Given the description of an element on the screen output the (x, y) to click on. 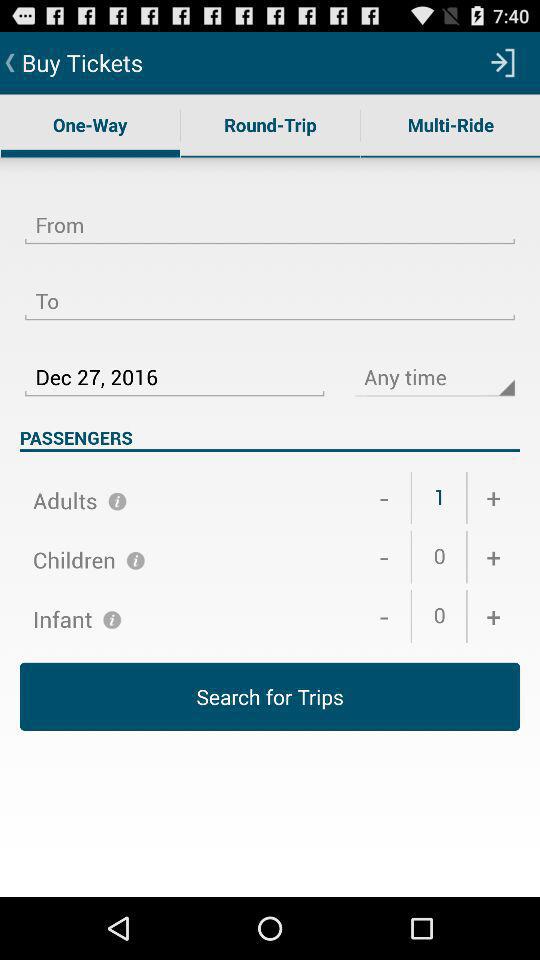
select destination (269, 289)
